Given the description of an element on the screen output the (x, y) to click on. 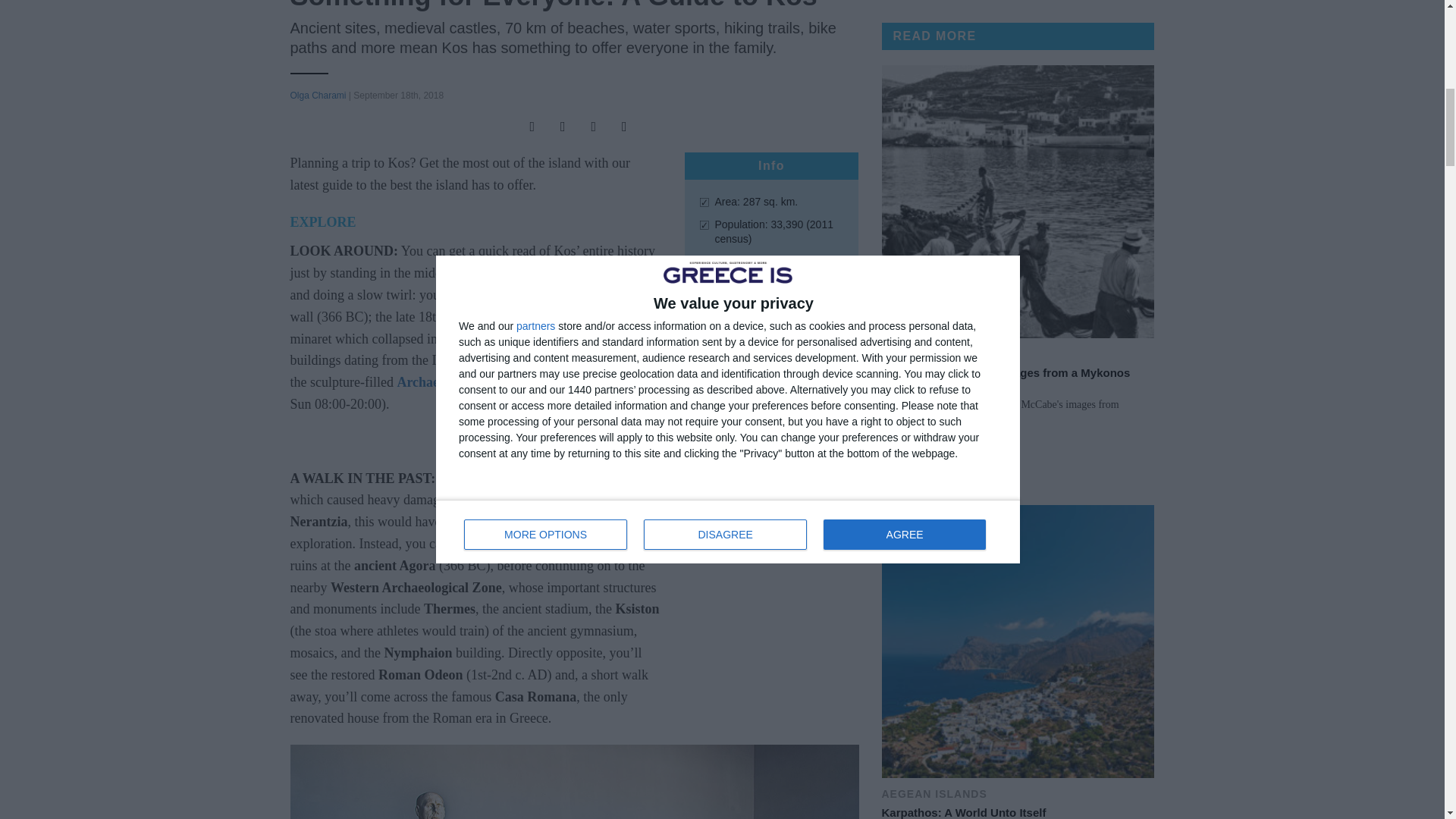
Share on twitter (559, 127)
Share via email (589, 127)
Share on facebook (527, 127)
Print this article (620, 127)
